Given the description of an element on the screen output the (x, y) to click on. 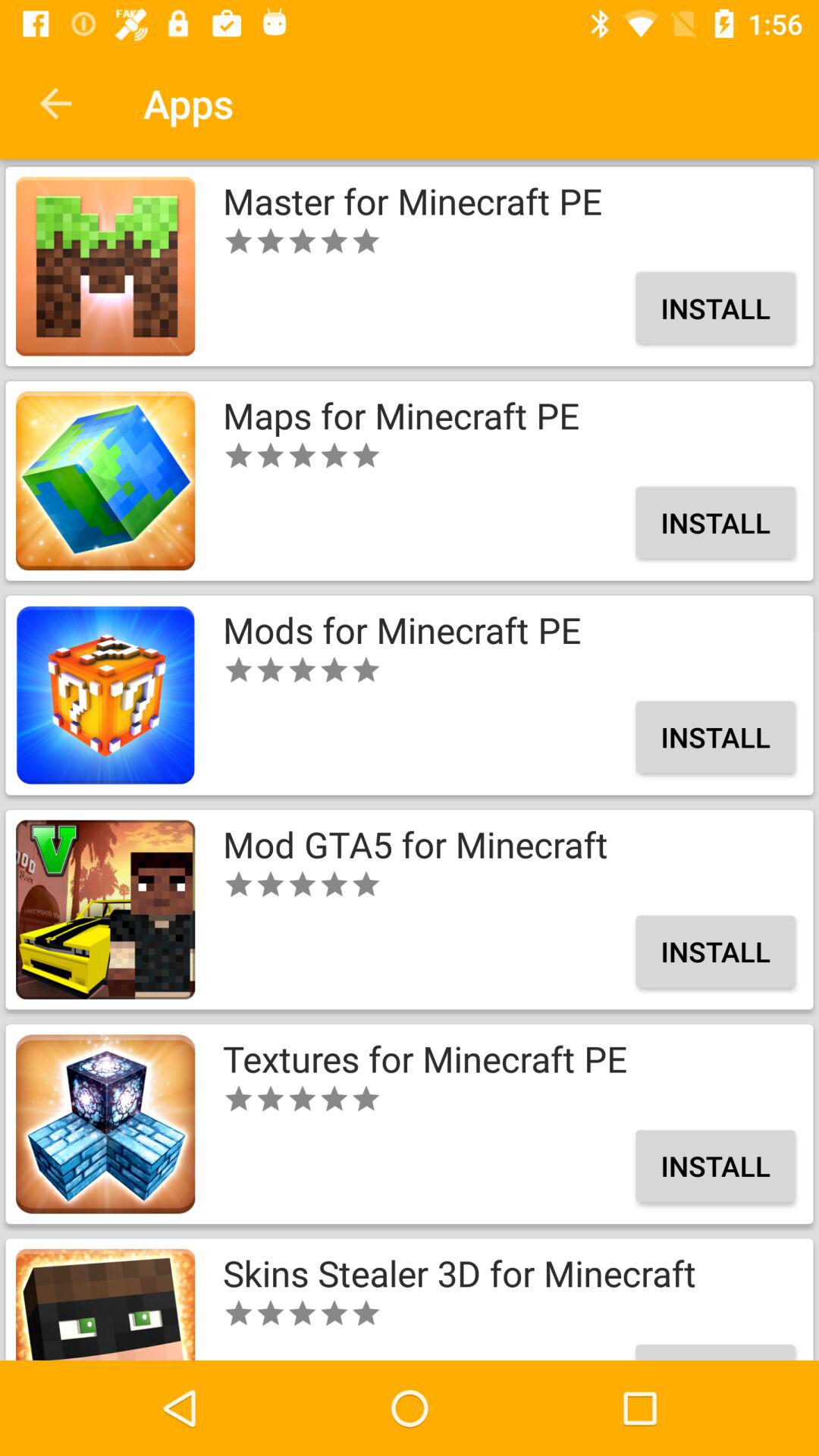
select the icon to the left of apps app (55, 103)
